Given the description of an element on the screen output the (x, y) to click on. 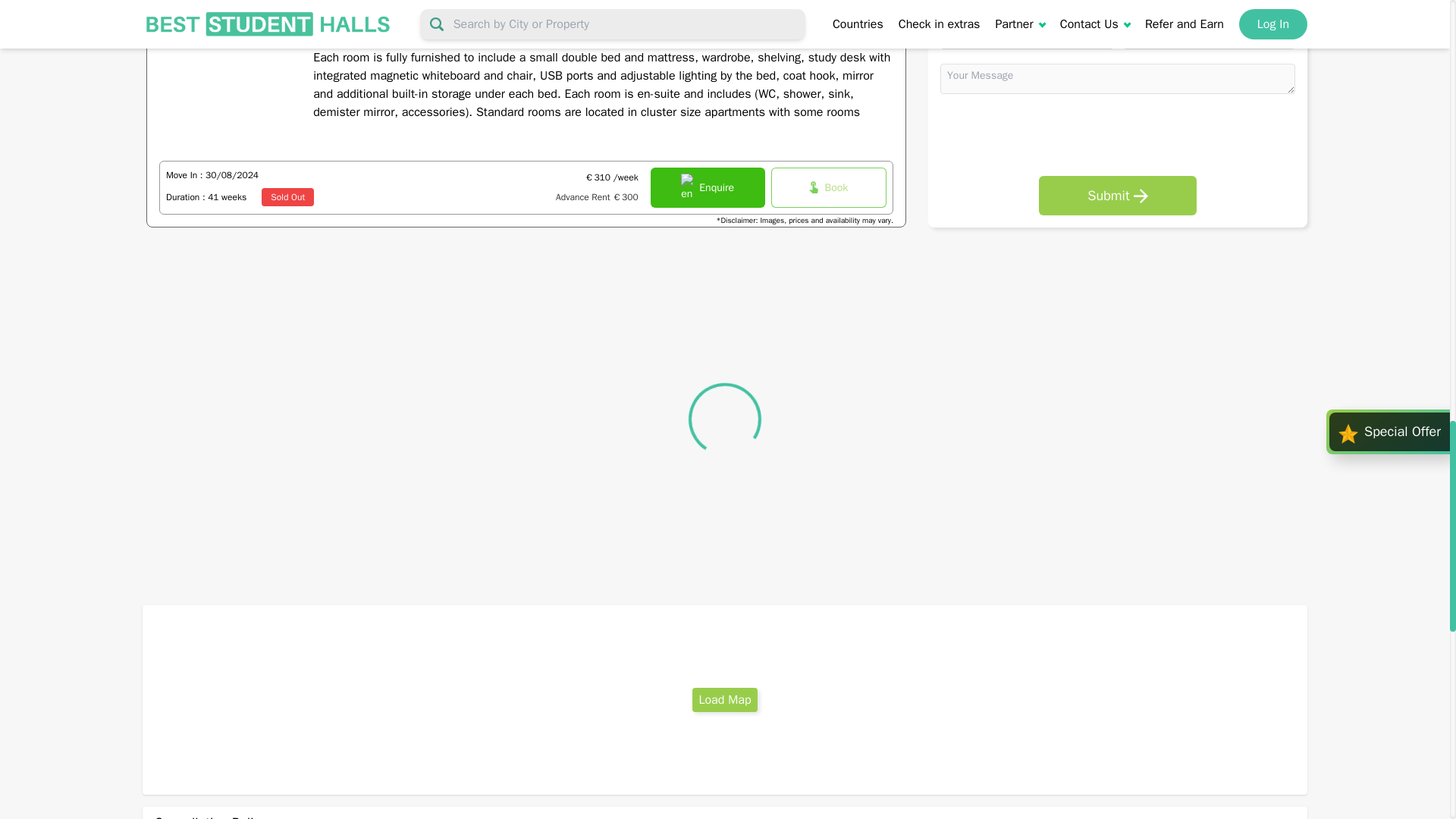
Enquire (707, 187)
Book (828, 187)
Load Map (725, 699)
